Given the description of an element on the screen output the (x, y) to click on. 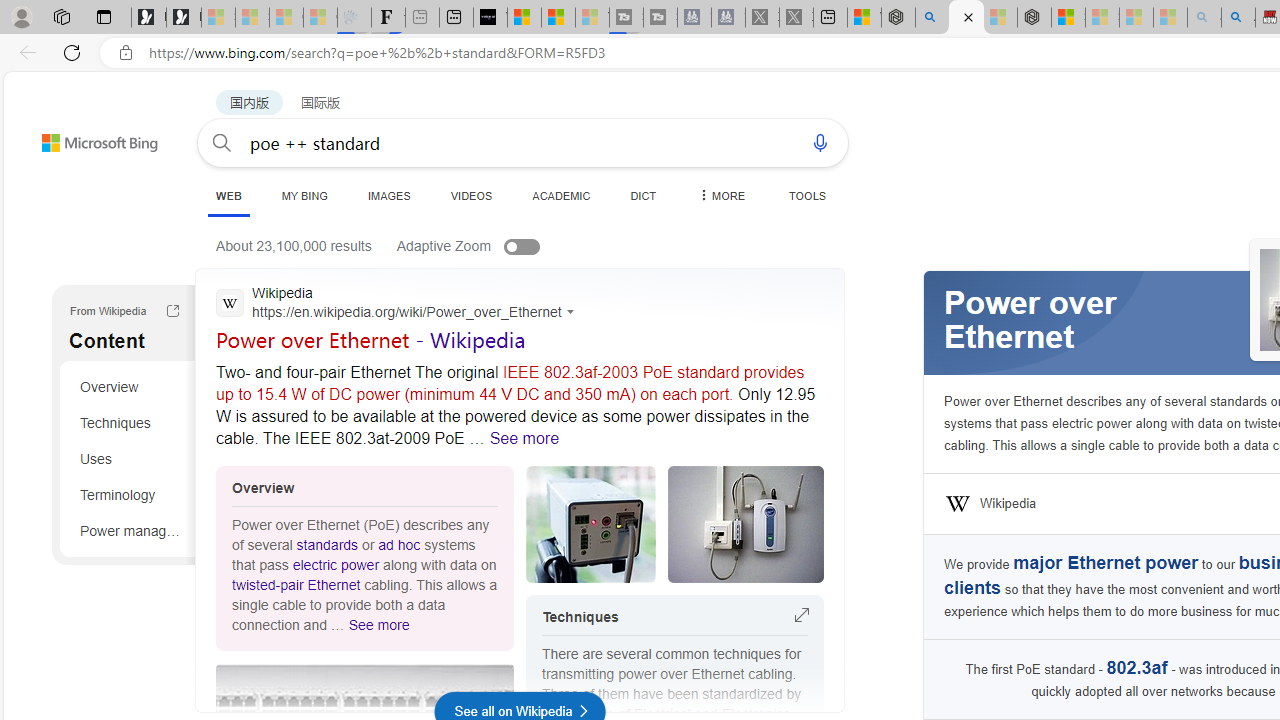
TOOLS (807, 195)
Overview image (746, 524)
